Given the description of an element on the screen output the (x, y) to click on. 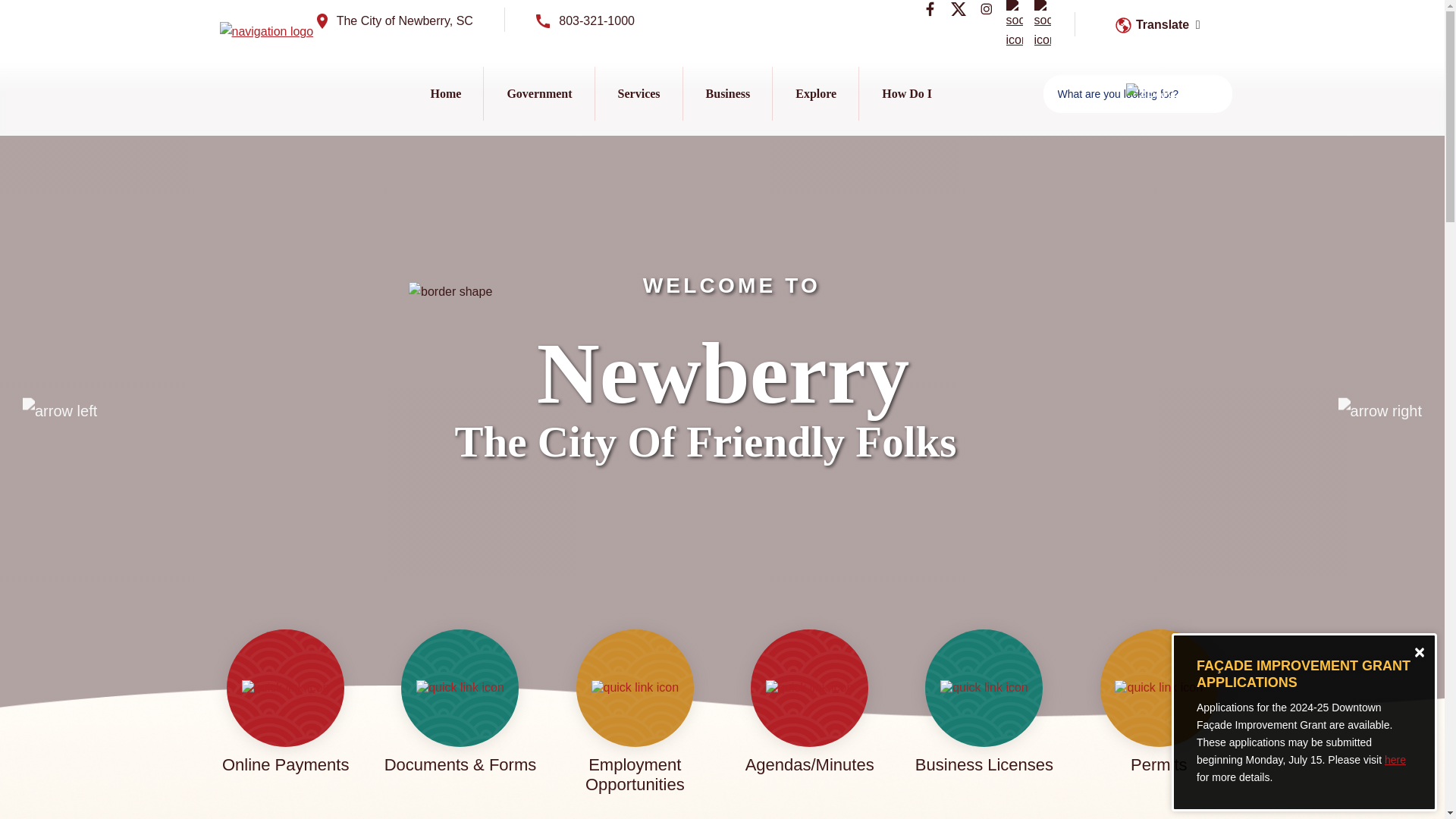
803-321-1000 (584, 23)
The City of Newberry, SC (395, 23)
Translate (1154, 24)
